Given the description of an element on the screen output the (x, y) to click on. 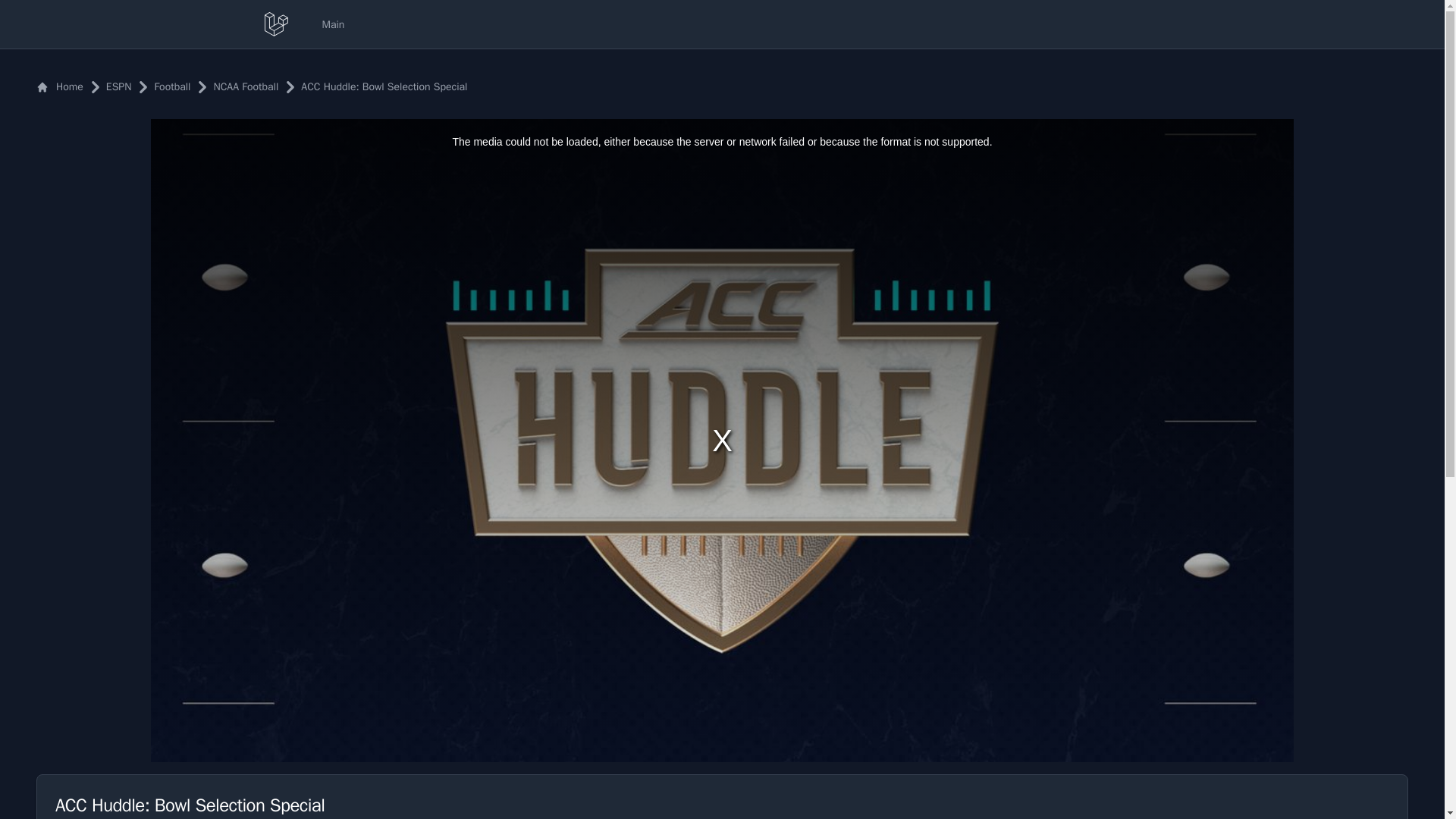
ESPN (110, 87)
Home (59, 87)
NCAA Football (237, 87)
Football (163, 87)
ACC Huddle: Bowl Selection Special (375, 87)
Main (332, 24)
